Given the description of an element on the screen output the (x, y) to click on. 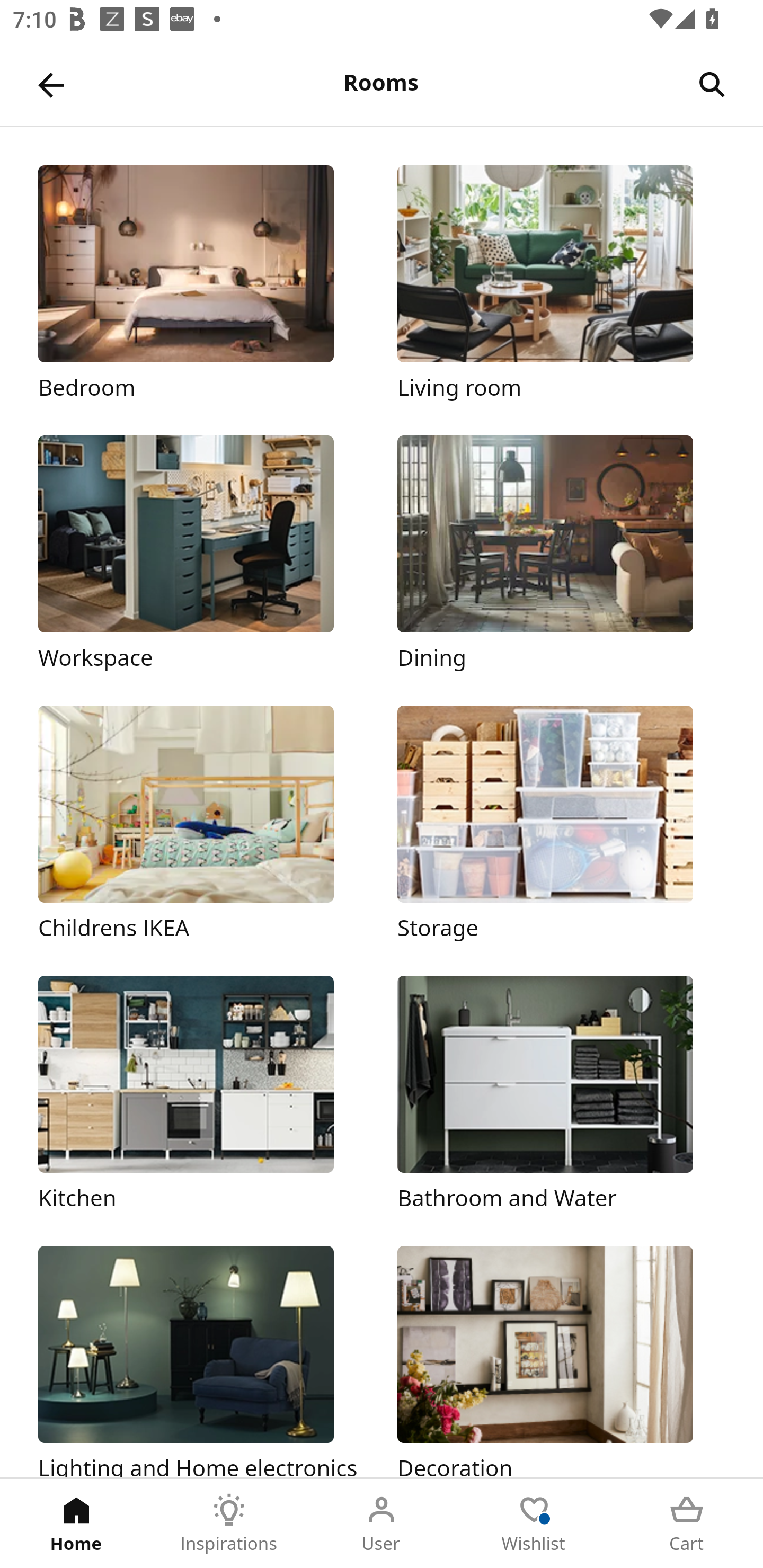
Bedroom (201, 283)
Living room (560, 283)
Workspace (201, 554)
Dining (560, 554)
Childrens IKEA (201, 824)
Storage (560, 824)
Kitchen (201, 1094)
Bathroom and Water (560, 1094)
Lighting and Home electronics (201, 1361)
Decoration (560, 1361)
Home
Tab 1 of 5 (76, 1522)
Inspirations
Tab 2 of 5 (228, 1522)
User
Tab 3 of 5 (381, 1522)
Wishlist
Tab 4 of 5 (533, 1522)
Cart
Tab 5 of 5 (686, 1522)
